Given the description of an element on the screen output the (x, y) to click on. 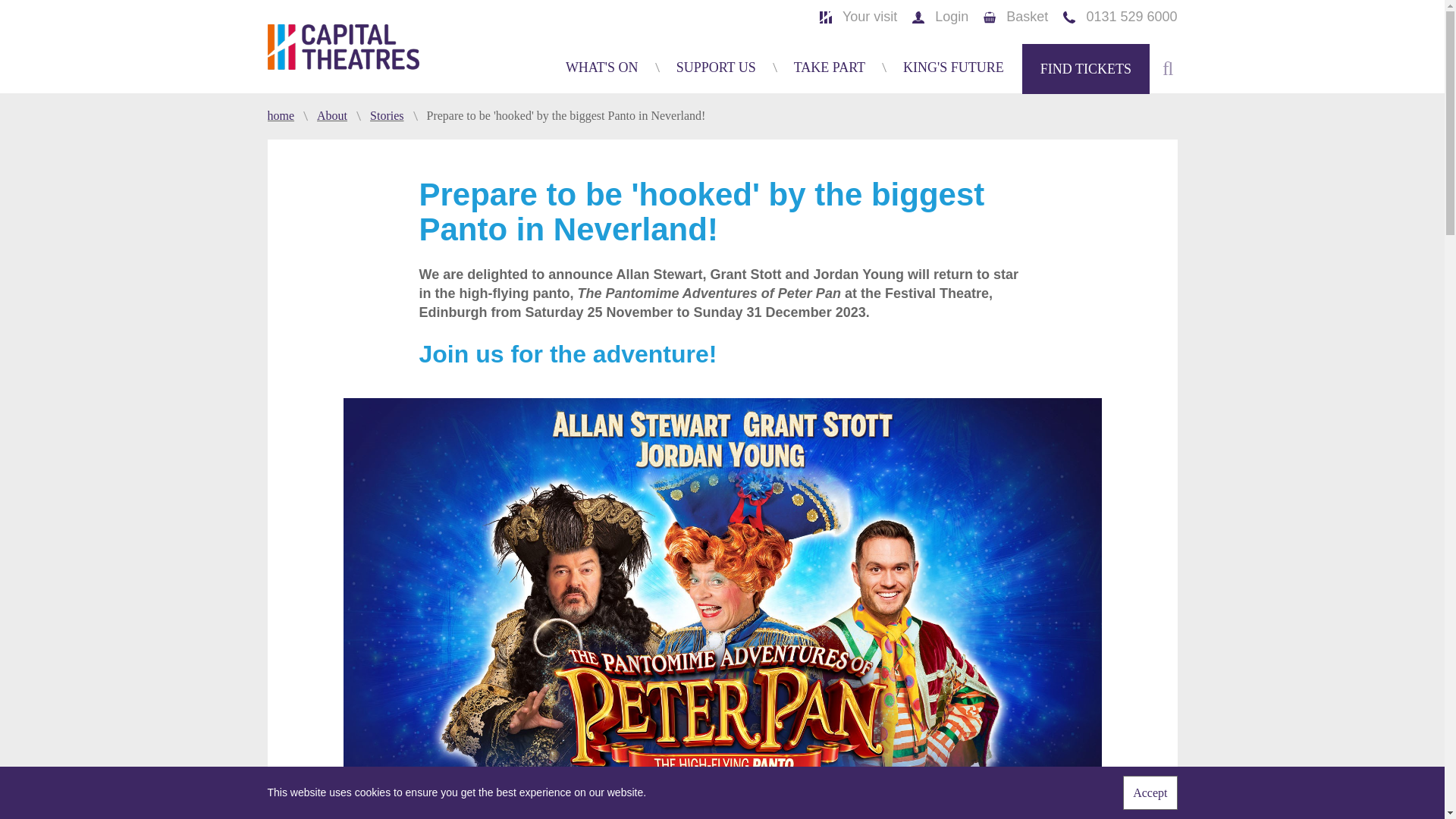
Your visit (857, 17)
WHAT'S ON (602, 68)
Login (940, 17)
Stories (394, 115)
FIND TICKETS (1086, 69)
KING'S FUTURE (953, 68)
Show More (395, 82)
About (339, 115)
SEARCH (1122, 48)
Basket (1016, 17)
0131 529 6000 (1119, 17)
SUPPORT US (716, 68)
TAKE PART (828, 68)
home (287, 115)
